Given the description of an element on the screen output the (x, y) to click on. 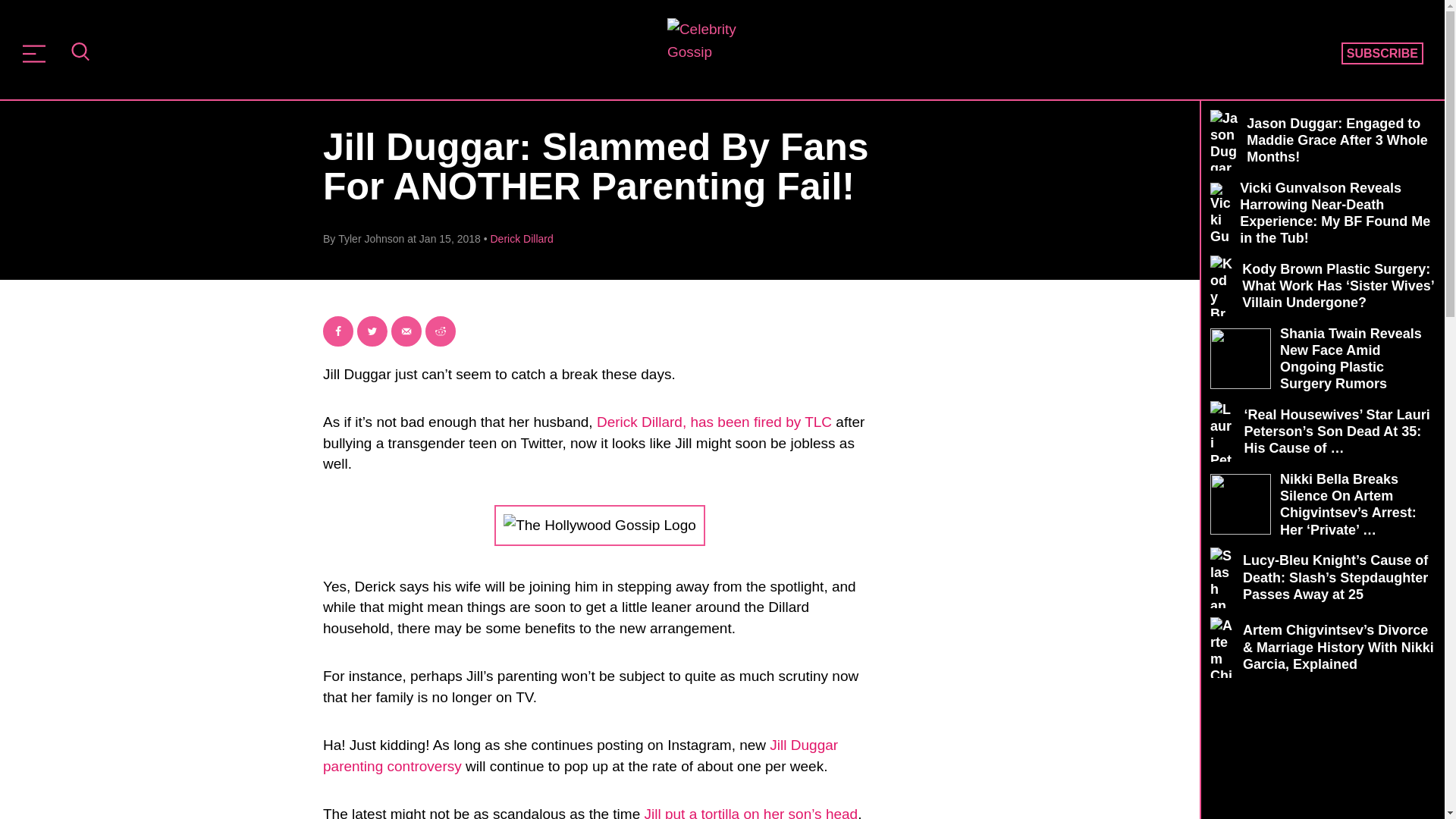
Send over email (406, 331)
Derick Dillard, has been fired by TLC (713, 421)
Share on Twitter (371, 331)
SEARCH (79, 53)
The Hollywood Gossip (716, 48)
SUBSCRIBE (1381, 53)
Share on Facebook (338, 331)
Jason Duggar: Engaged to Maddie Grace After 3 Whole Months! (1322, 139)
Share on Reddit (440, 331)
